Given the description of an element on the screen output the (x, y) to click on. 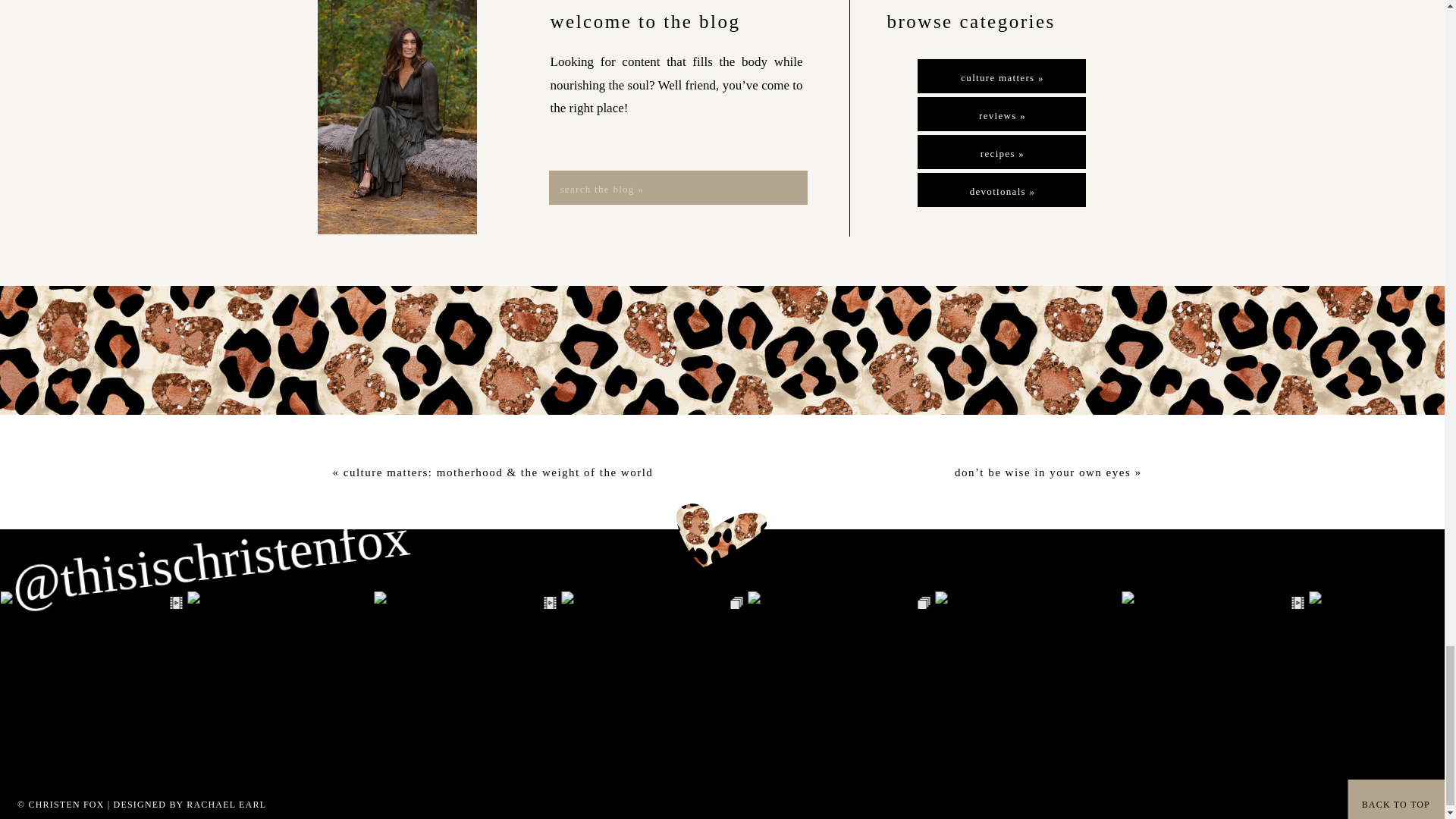
BACK TO TOP (1388, 803)
